Given the description of an element on the screen output the (x, y) to click on. 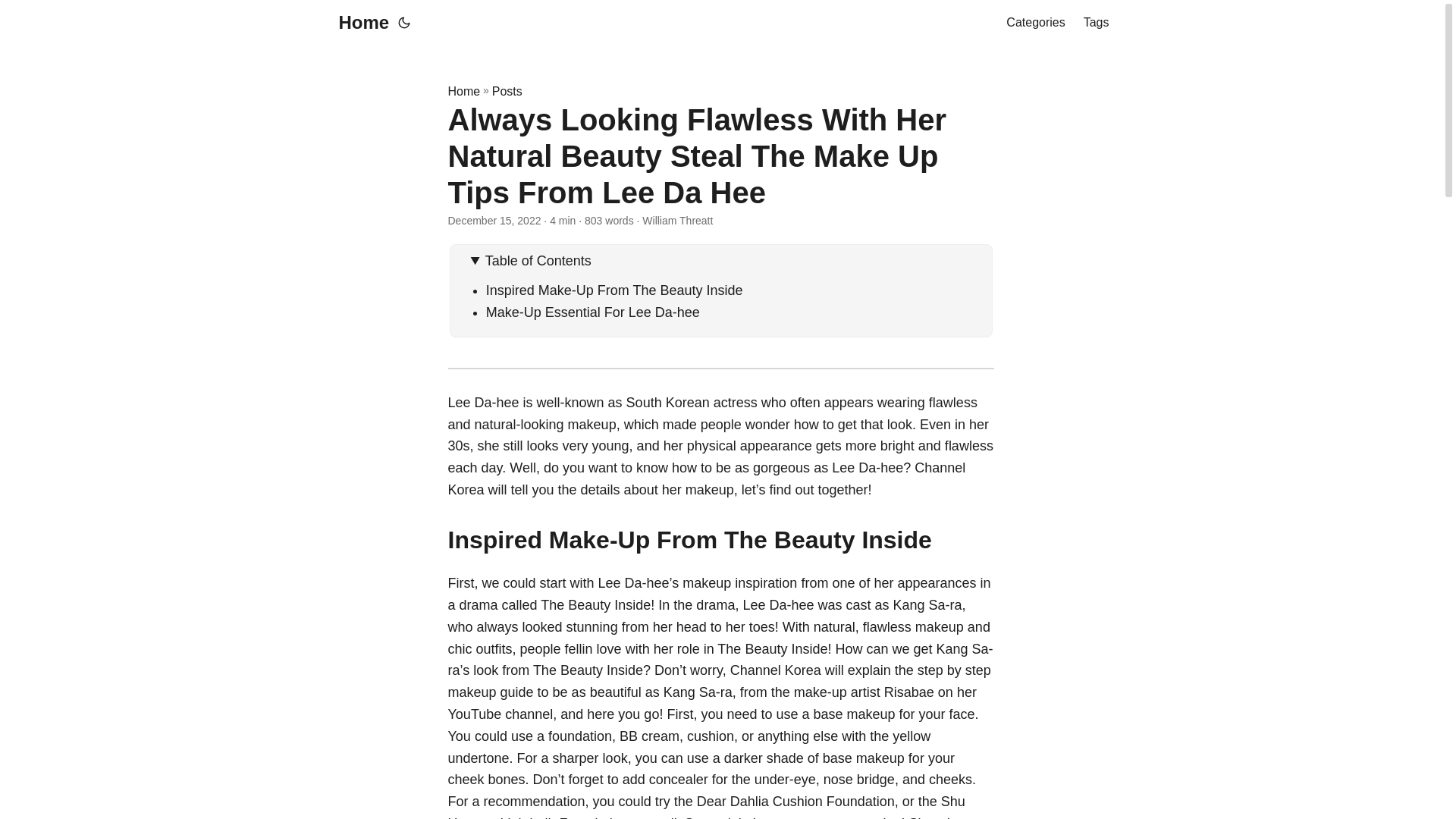
Categories (1035, 22)
Tags (1096, 22)
Home (359, 22)
Inspired Make-Up From The Beauty Inside (614, 290)
Home (463, 91)
Tags (1096, 22)
Posts (507, 91)
Categories (1035, 22)
Make-Up Essential For Lee Da-hee (593, 312)
